Given the description of an element on the screen output the (x, y) to click on. 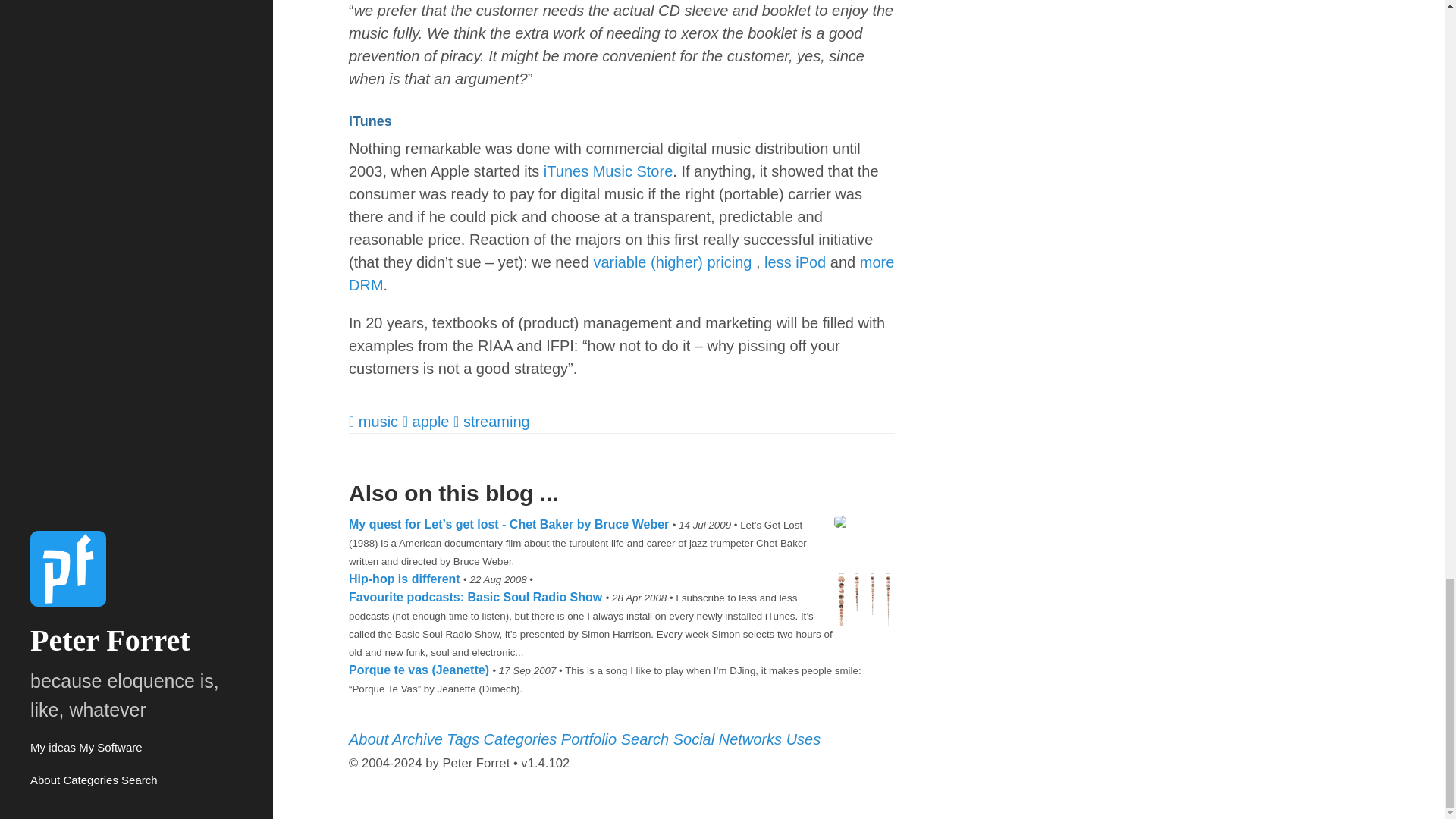
Search (646, 739)
Social Networks (729, 739)
About (370, 739)
more DRM (621, 273)
Archive (418, 739)
iTunes Music Store (607, 170)
Tags (464, 739)
Hip-hop is different (406, 577)
Portfolio (590, 739)
less iPod (794, 262)
